Given the description of an element on the screen output the (x, y) to click on. 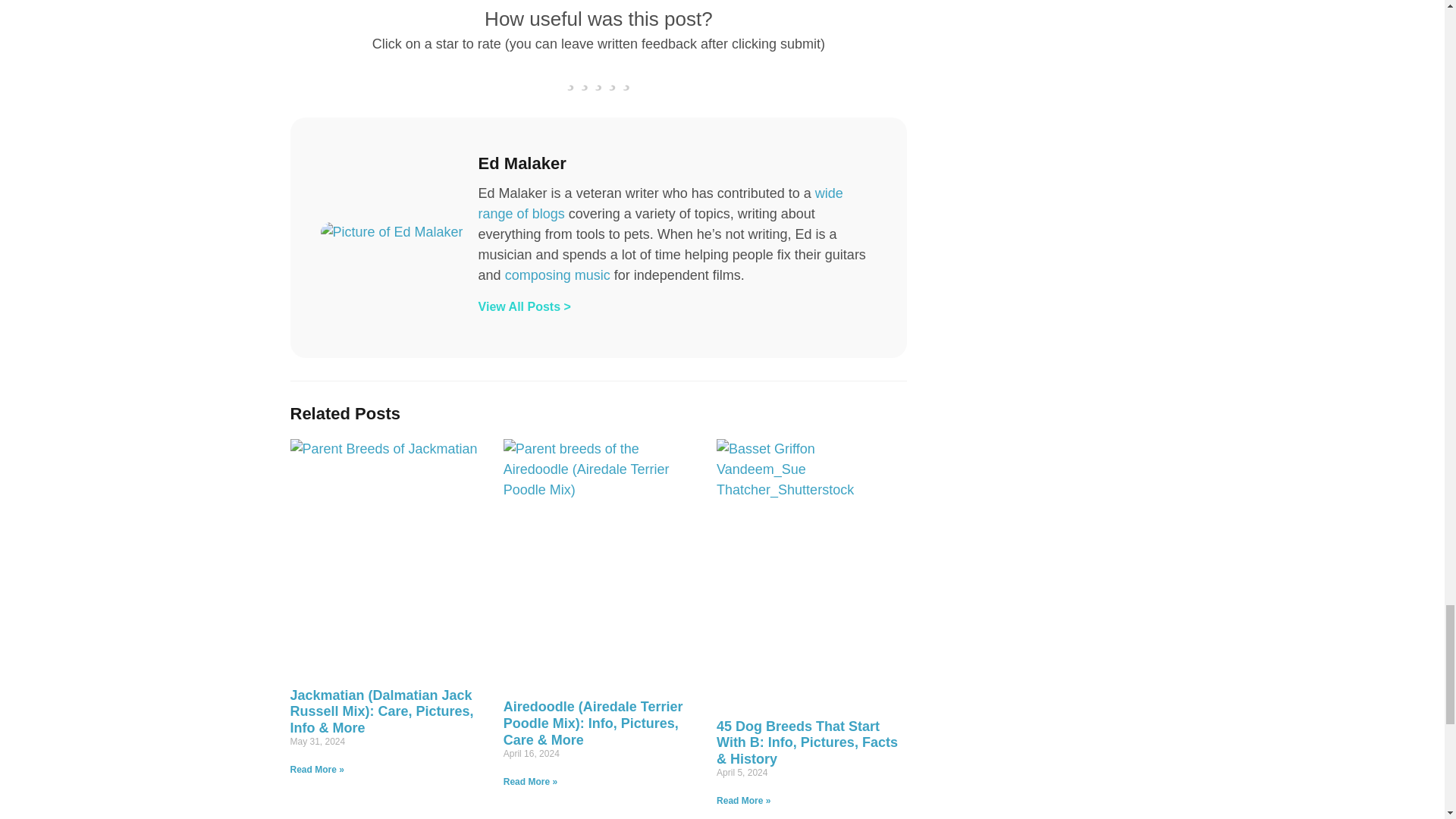
composing music (557, 274)
wide range of blogs (661, 203)
Ed Malaker (678, 163)
